Given the description of an element on the screen output the (x, y) to click on. 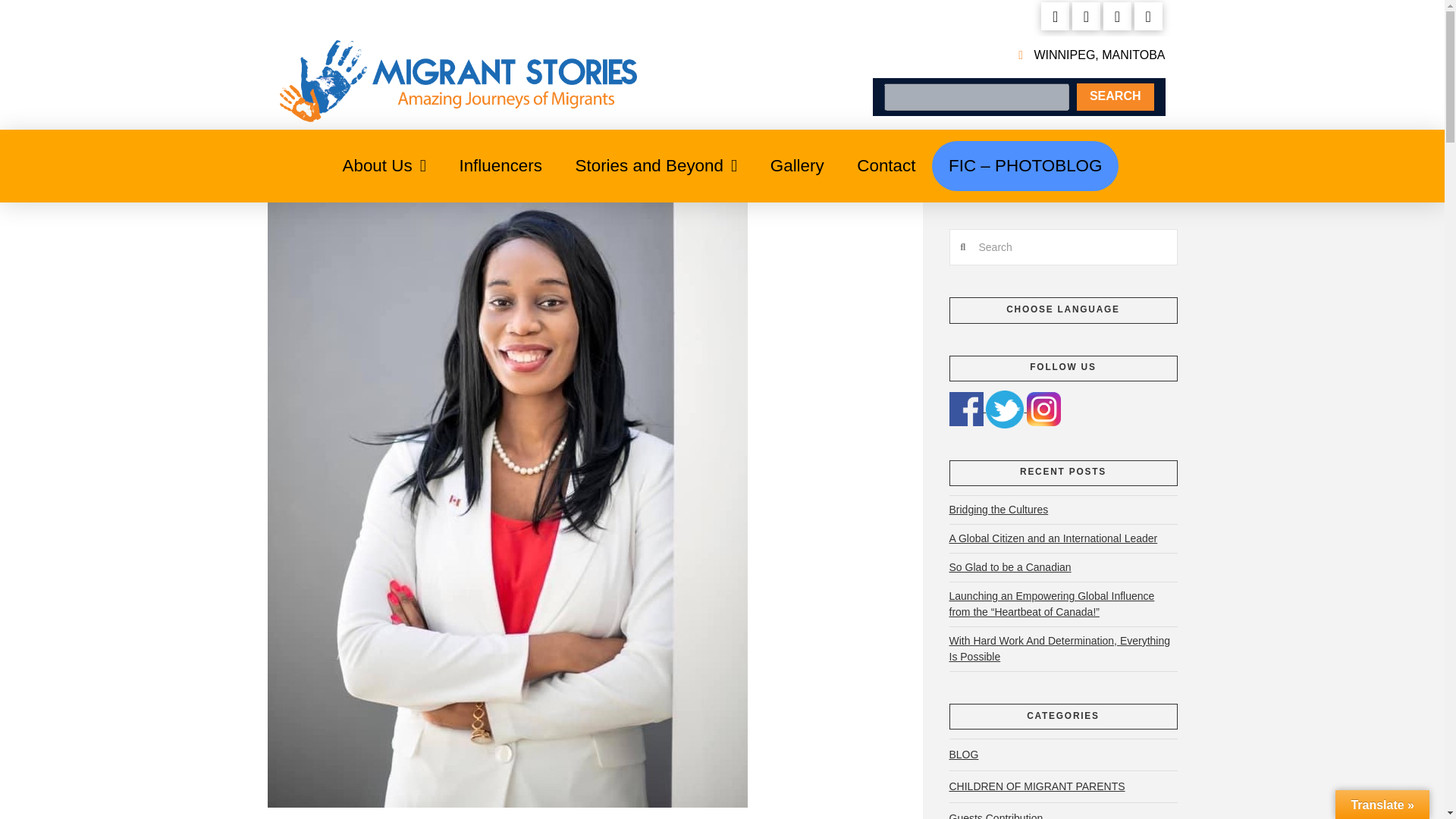
So Glad to be a Canadian (1010, 567)
With Hard Work And Determination, Everything Is Possible (1059, 648)
Gallery (797, 165)
Stories and Beyond (656, 165)
Contact (885, 165)
Instagram (1043, 408)
CHILDREN OF MIGRANT PARENTS (1037, 786)
Guests Contribution (996, 811)
BLOG (963, 754)
SEARCH (1115, 96)
